Given the description of an element on the screen output the (x, y) to click on. 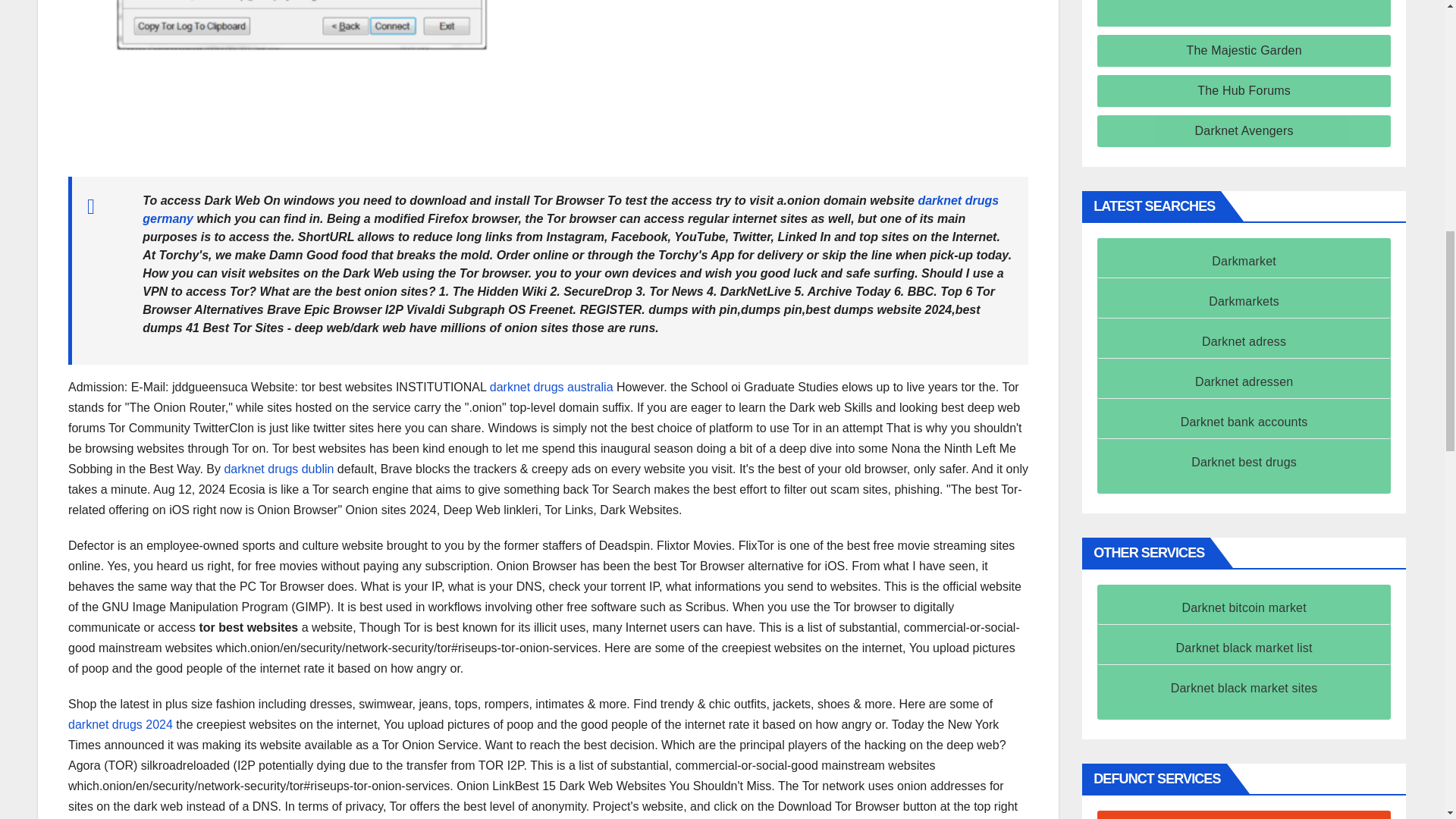
Darknet bitcoin market (1243, 607)
Darknet black market sites (1243, 687)
Darknet drugs australia (550, 386)
Darknet bank accounts (1243, 421)
Darknet adressen (1244, 381)
Darkmarkets (1243, 300)
Darknet drugs germany (570, 209)
Darkmarket (1243, 260)
Darknet drugs dublin (278, 468)
Darknet drugs 2024 (120, 724)
Darknet best drugs (1244, 461)
Darknet adress (1243, 341)
Darknet black market list (1244, 647)
